Given the description of an element on the screen output the (x, y) to click on. 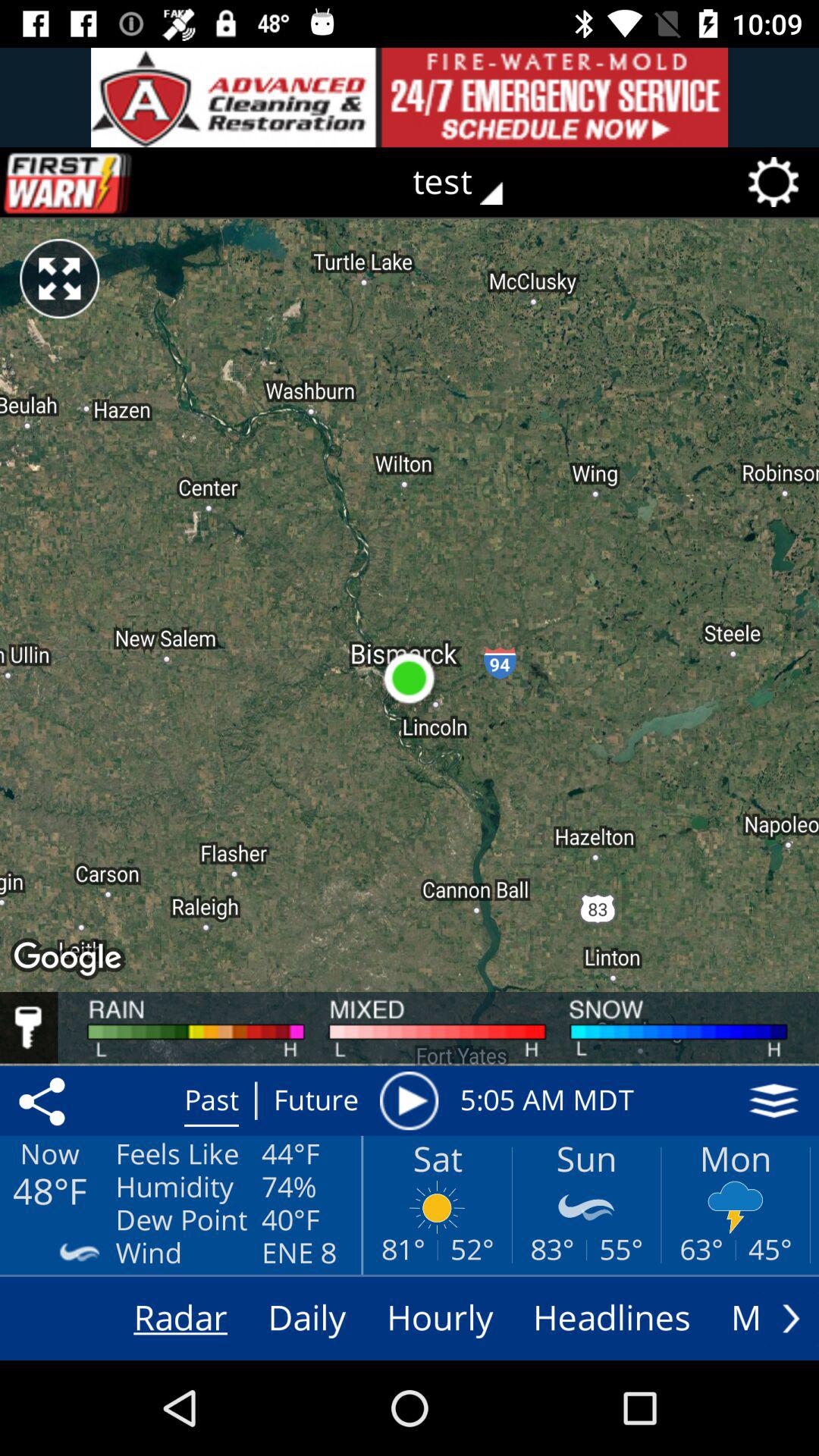
next day (791, 1318)
